Given the description of an element on the screen output the (x, y) to click on. 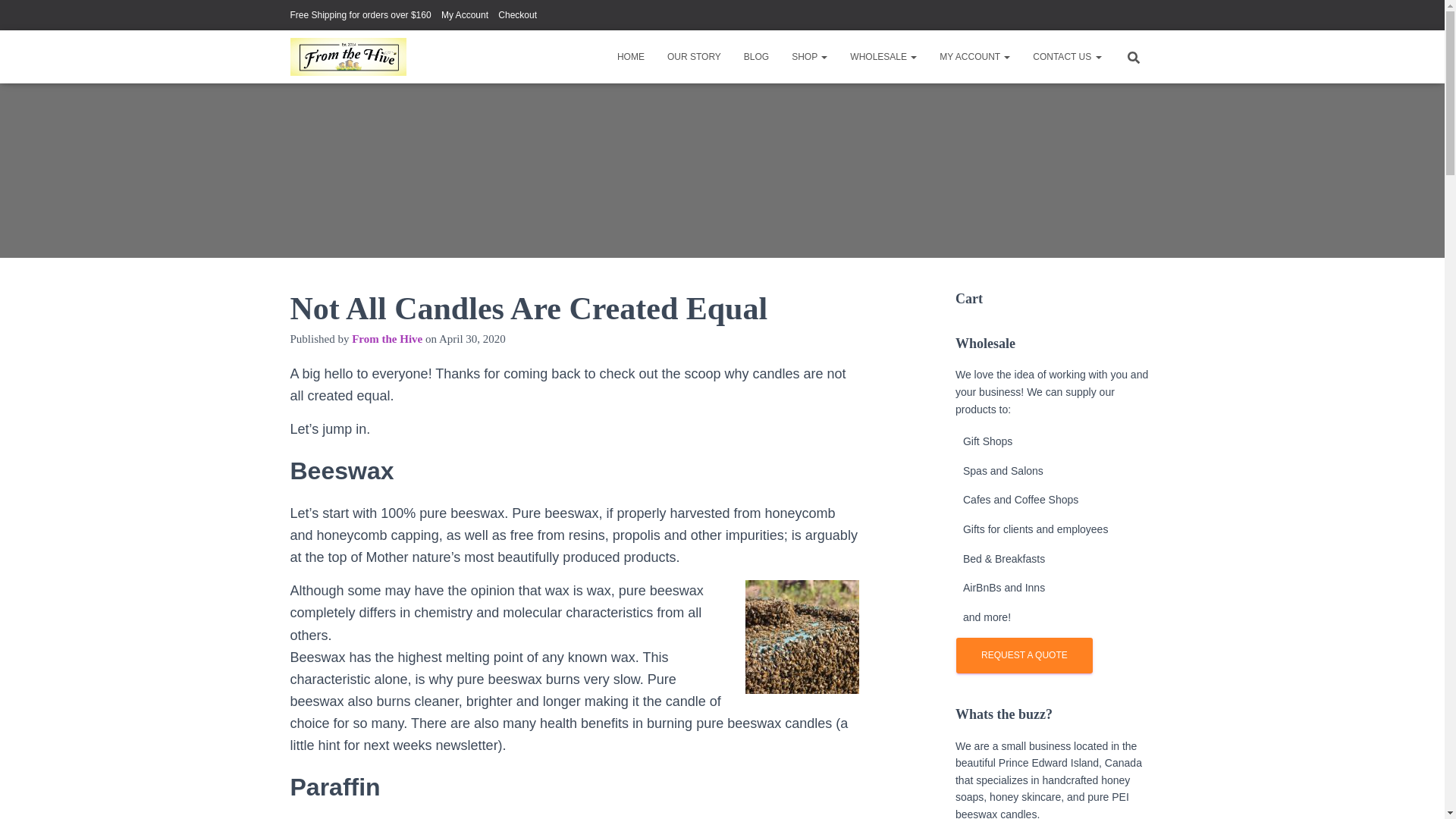
OUR STORY (694, 56)
CONTACT US (1067, 56)
From the Hive (387, 338)
HOME (630, 56)
My Account (464, 15)
Home (630, 56)
WHOLESALE (883, 56)
Checkout (517, 15)
Shop (809, 56)
Our Story (694, 56)
